Given the description of an element on the screen output the (x, y) to click on. 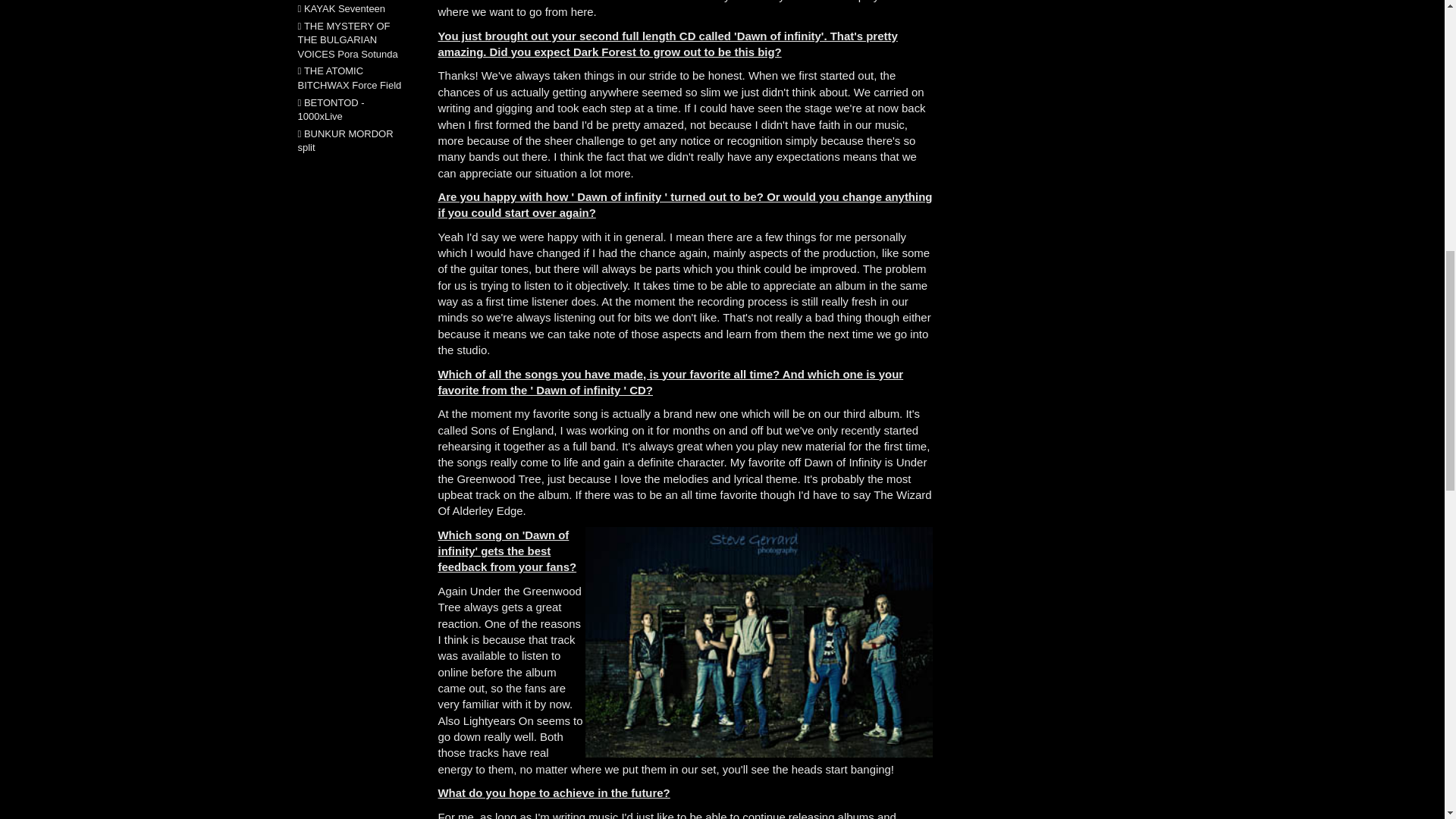
KAYAK Seventeen (344, 8)
BETONTOD - 1000xLive (330, 109)
BUNKUR MORDOR split (345, 140)
THE ATOMIC BITCHWAX Force Field (349, 77)
THE MYSTERY OF THE BULGARIAN VOICES Pora Sotunda (347, 39)
